Given the description of an element on the screen output the (x, y) to click on. 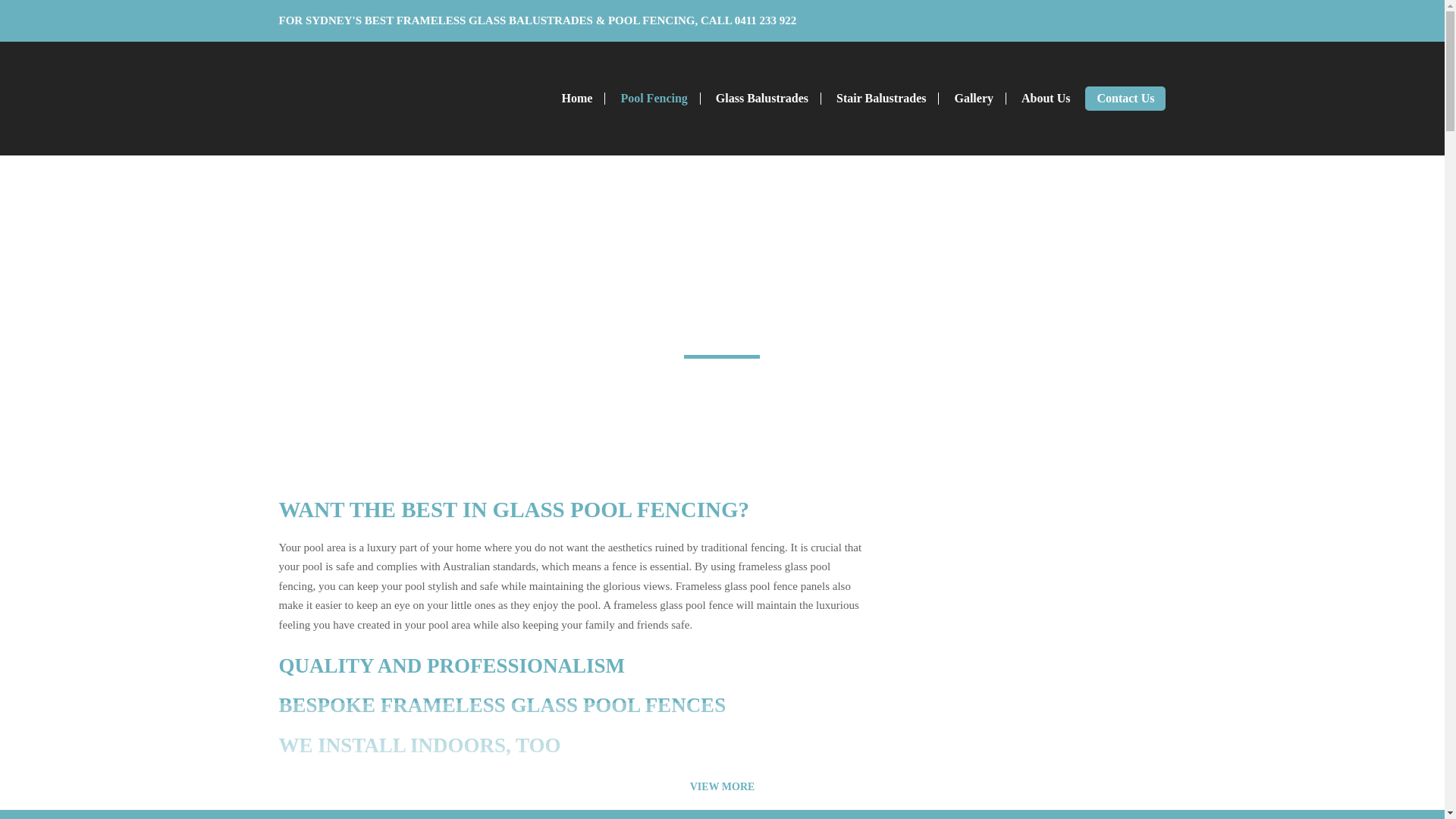
Stair Balustrades (881, 98)
Gallery (974, 98)
logo (354, 98)
Contact Us (1125, 98)
Pool Fencing (654, 98)
youtube (1077, 21)
0411 233 922 (765, 20)
About Us (1045, 98)
Satisfaction Guarantee Badge (1035, 655)
Glass Balustrades (762, 98)
